Given the description of an element on the screen output the (x, y) to click on. 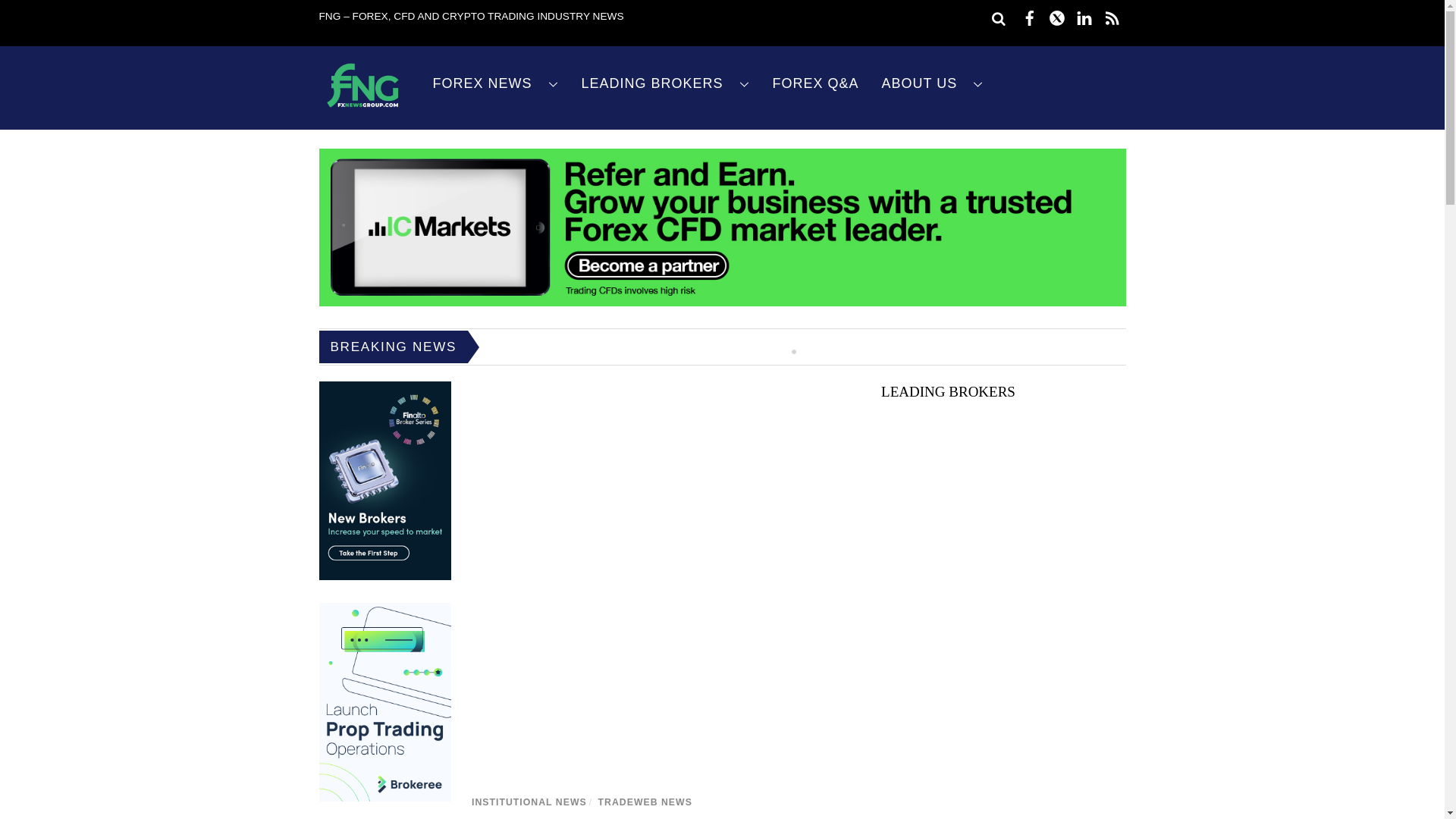
LEADING BROKERS (665, 83)
FOREX NEWS (496, 83)
FX News Group (362, 108)
